Given the description of an element on the screen output the (x, y) to click on. 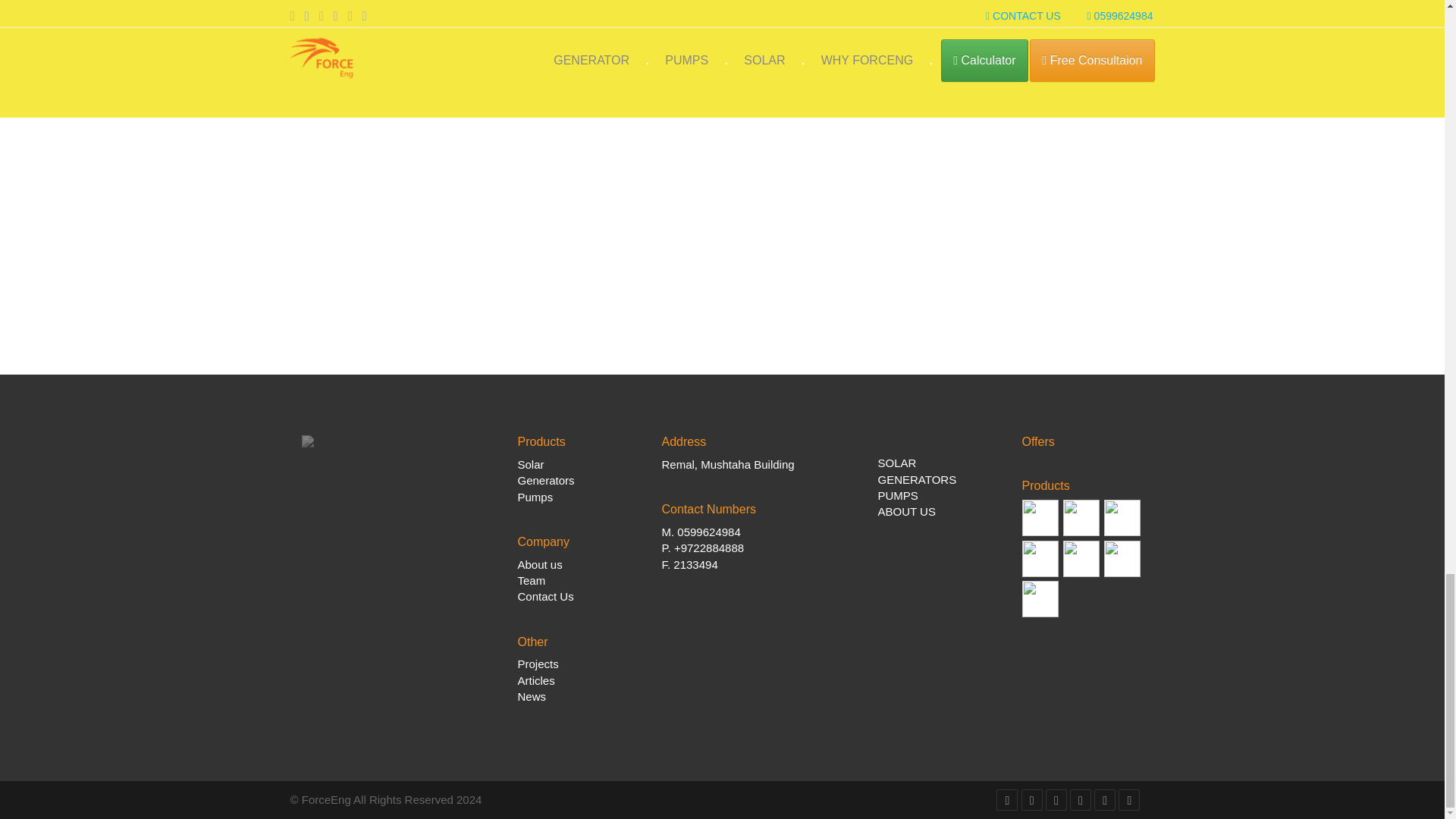
Normal Inverter (1080, 517)
Deasalination5 (1121, 558)
Narada 2 (1121, 517)
Sunrun Panels 2 (1040, 558)
Pump1 (1040, 517)
Sunrun Panels (1080, 558)
